Given the description of an element on the screen output the (x, y) to click on. 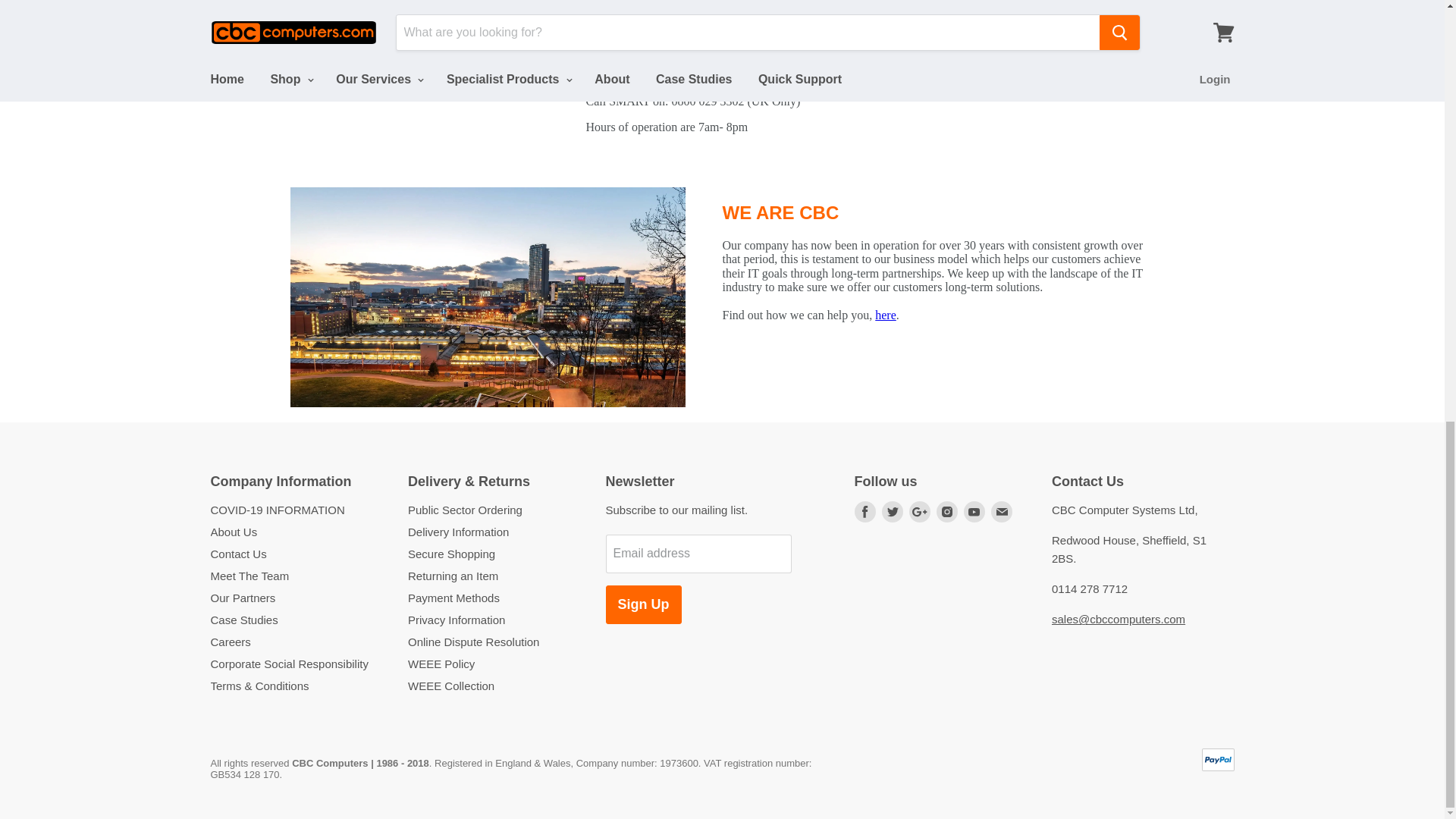
Facebook (863, 511)
Youtube (973, 511)
E-mail (1000, 511)
Twitter (891, 511)
Instagram (946, 511)
Google (919, 511)
